Given the description of an element on the screen output the (x, y) to click on. 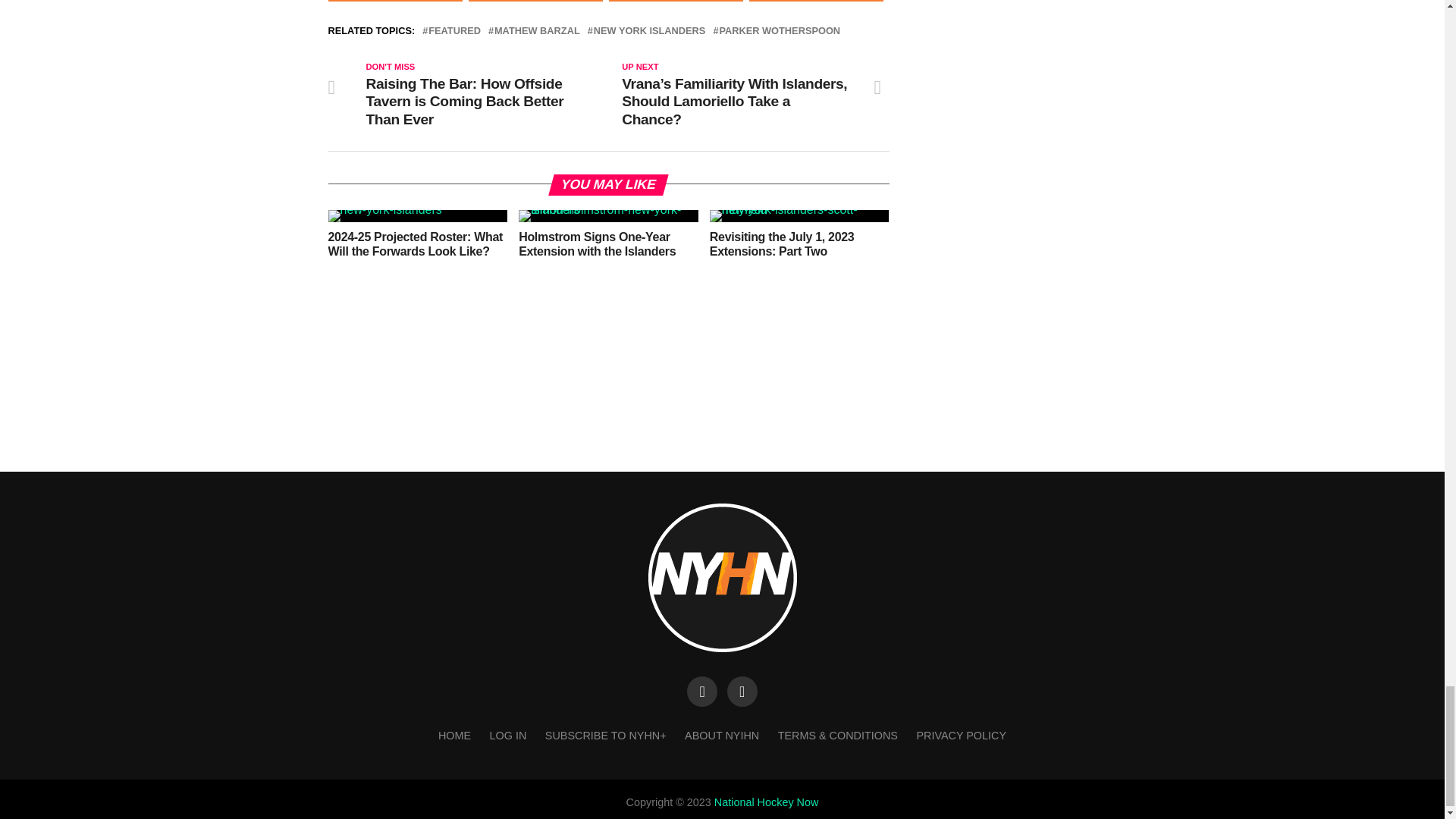
Share on Tweet (535, 0)
Share on Comment! (816, 0)
Share on Flip (675, 0)
Share on Share (394, 0)
